Given the description of an element on the screen output the (x, y) to click on. 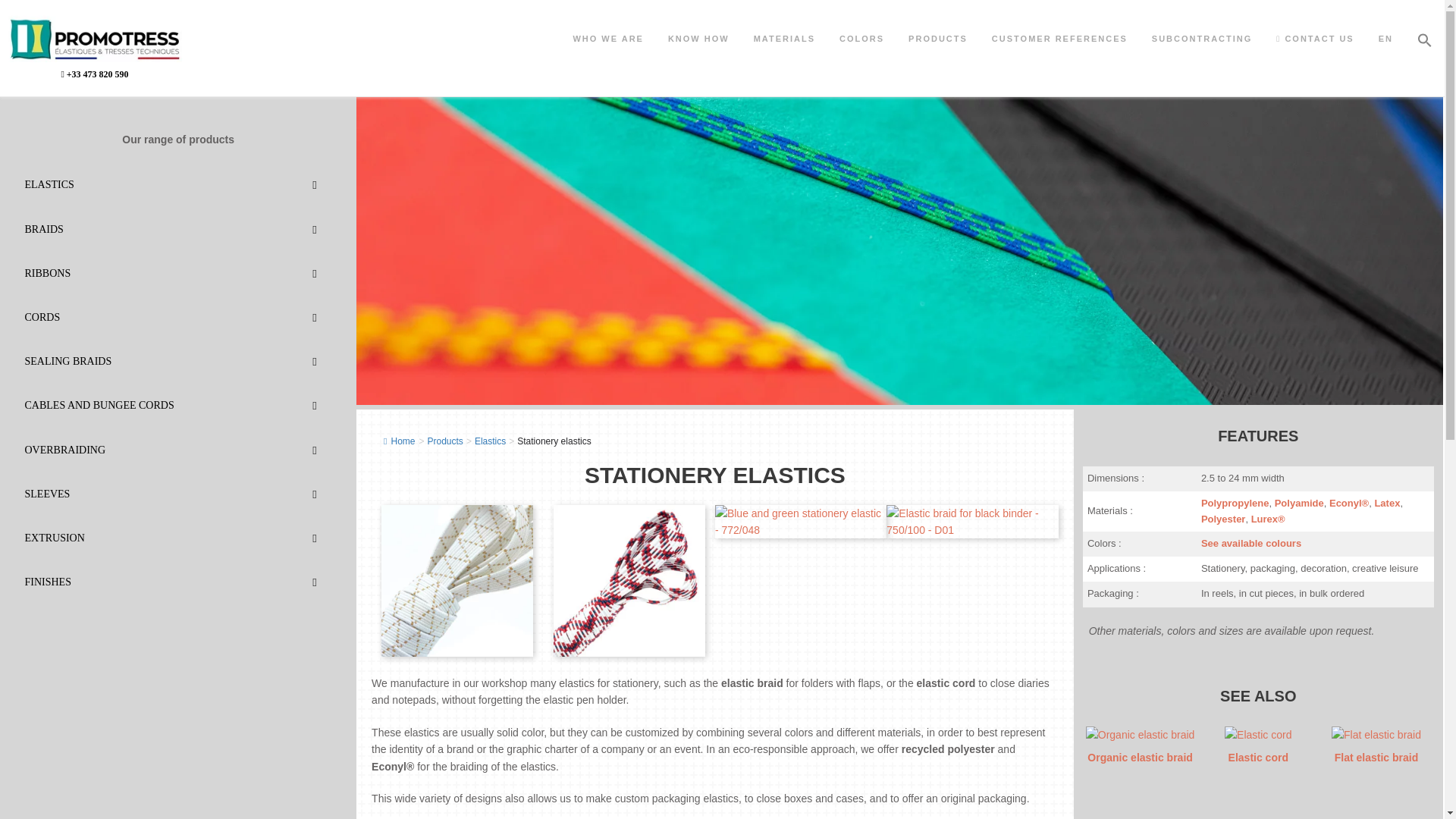
MATERIALS (784, 40)
Organic elastic braid (1139, 757)
KNOW HOW (698, 40)
WHO WE ARE (608, 40)
Tresses plates (1376, 757)
CUSTOMER REFERENCES (1059, 40)
Products (445, 440)
CONTACT US (1314, 40)
SUBCONTRACTING (1202, 40)
PRODUCTS (937, 40)
